Given the description of an element on the screen output the (x, y) to click on. 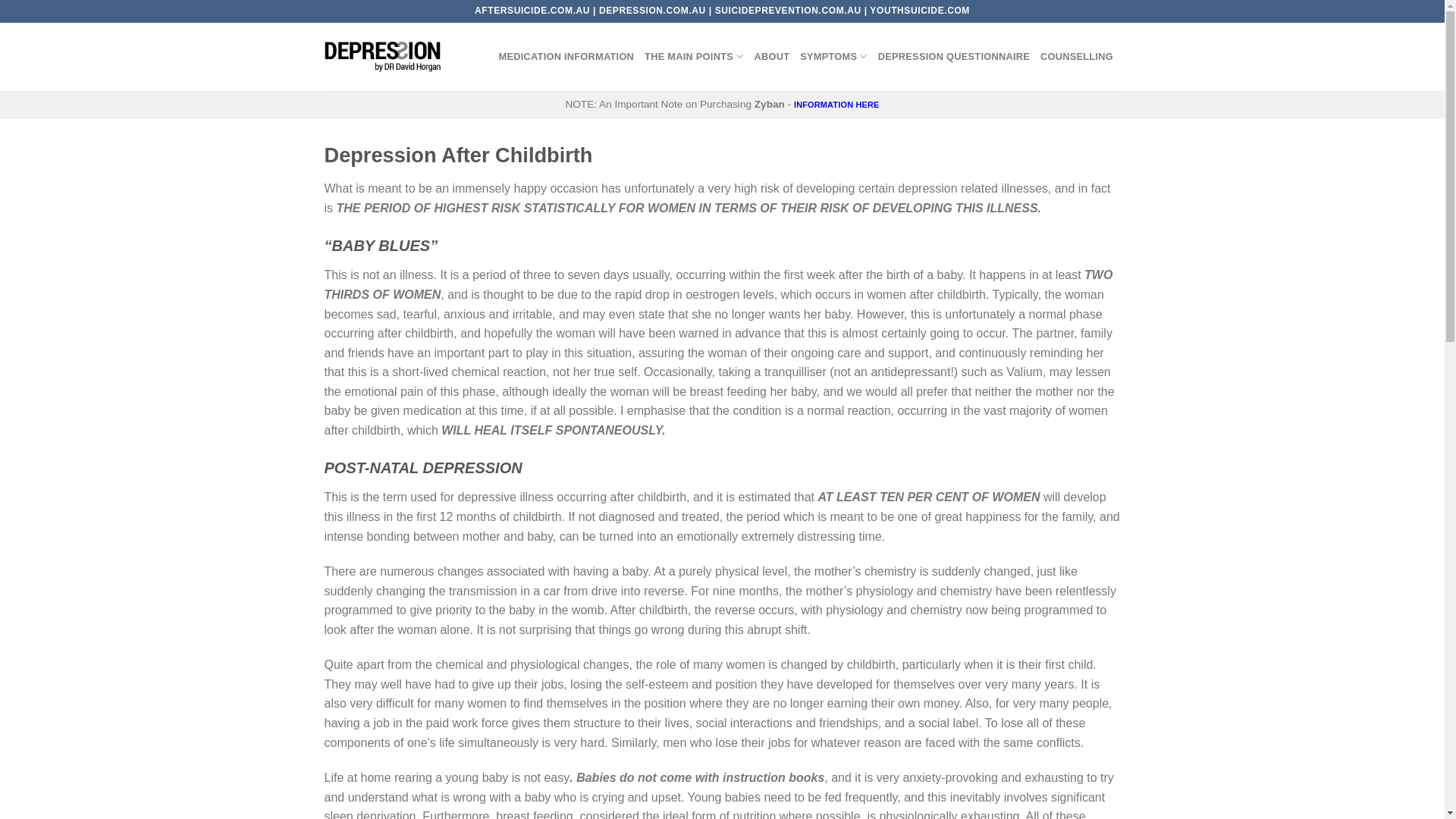
YOUTHSUICIDE.COM Element type: text (919, 10)
THE MAIN POINTS Element type: text (693, 56)
SYMPTOMS Element type: text (833, 56)
AFTERSUICIDE.COM.AU Element type: text (531, 10)
ABOUT Element type: text (771, 56)
INFORMATION HERE Element type: text (836, 105)
DEPRESSION QUESTIONNAIRE Element type: text (953, 56)
MEDICATION INFORMATION Element type: text (566, 56)
SUICIDEPREVENTION.COM.AU Element type: text (788, 10)
DEPRESSION.COM.AU Element type: text (652, 10)
COUNSELLING Element type: text (1076, 56)
